Given the description of an element on the screen output the (x, y) to click on. 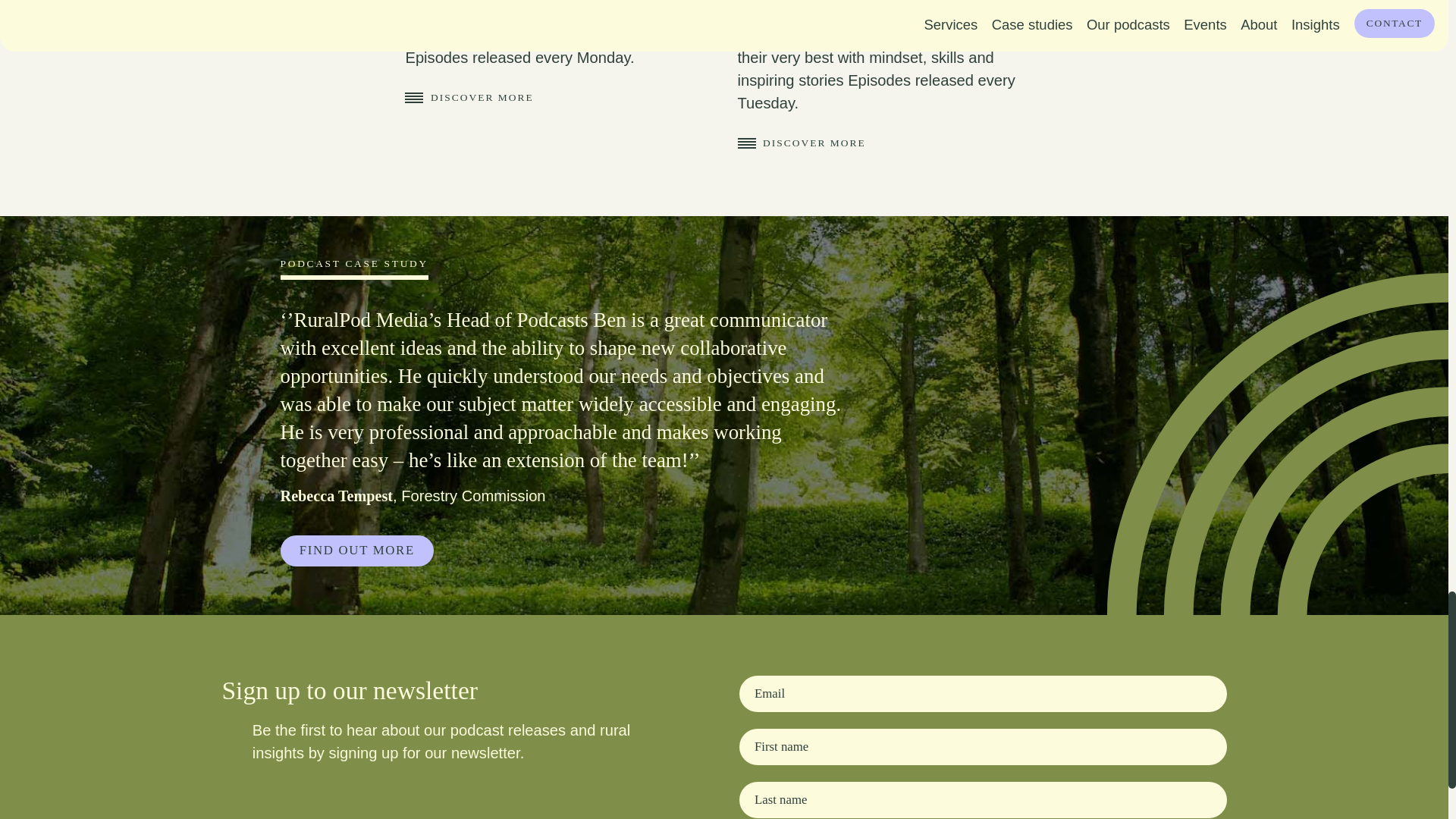
DISCOVER MORE (468, 97)
FIND OUT MORE (357, 550)
DISCOVER MORE (800, 142)
